Given the description of an element on the screen output the (x, y) to click on. 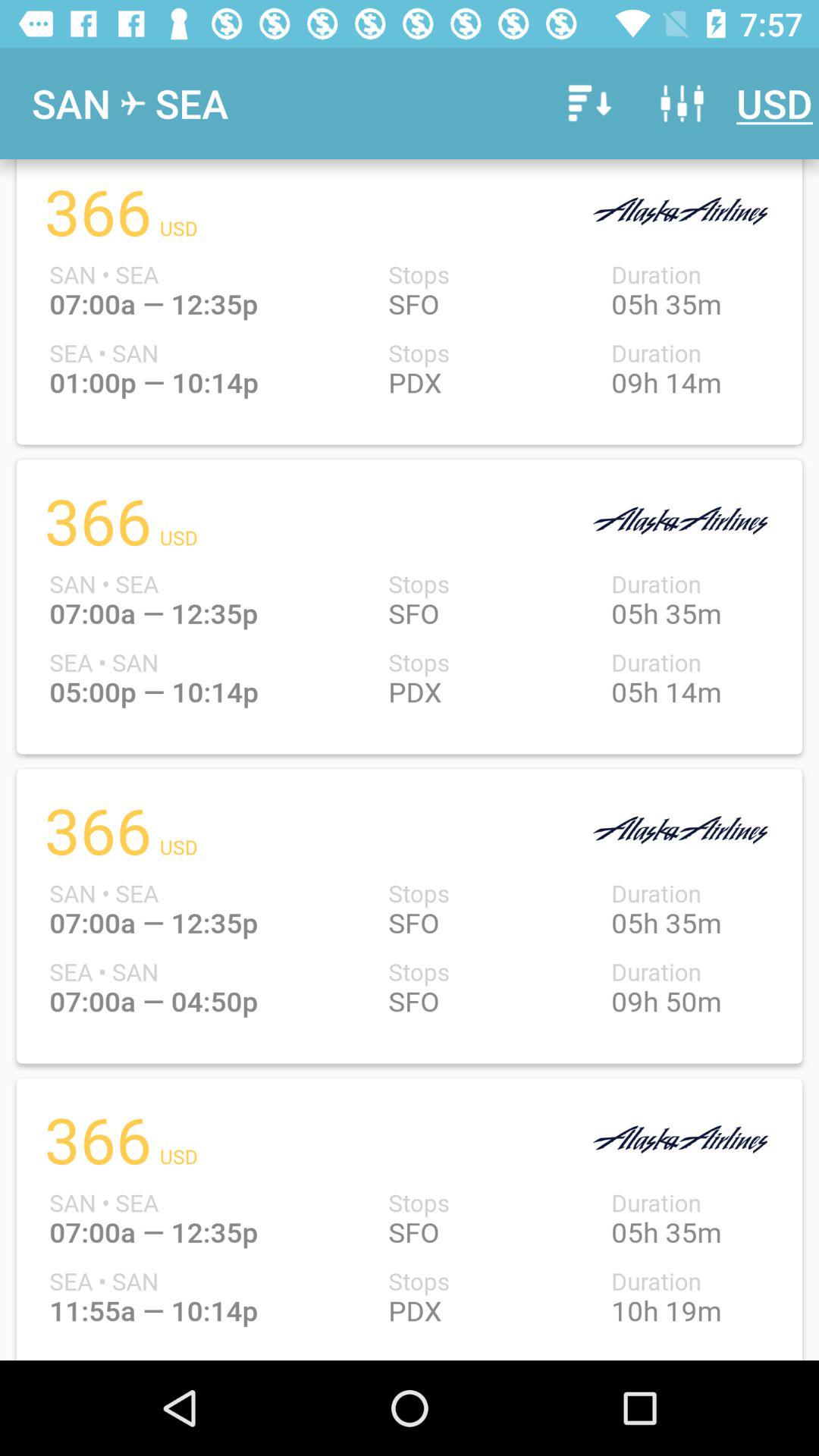
turn on the item to the left of usd icon (682, 103)
